Given the description of an element on the screen output the (x, y) to click on. 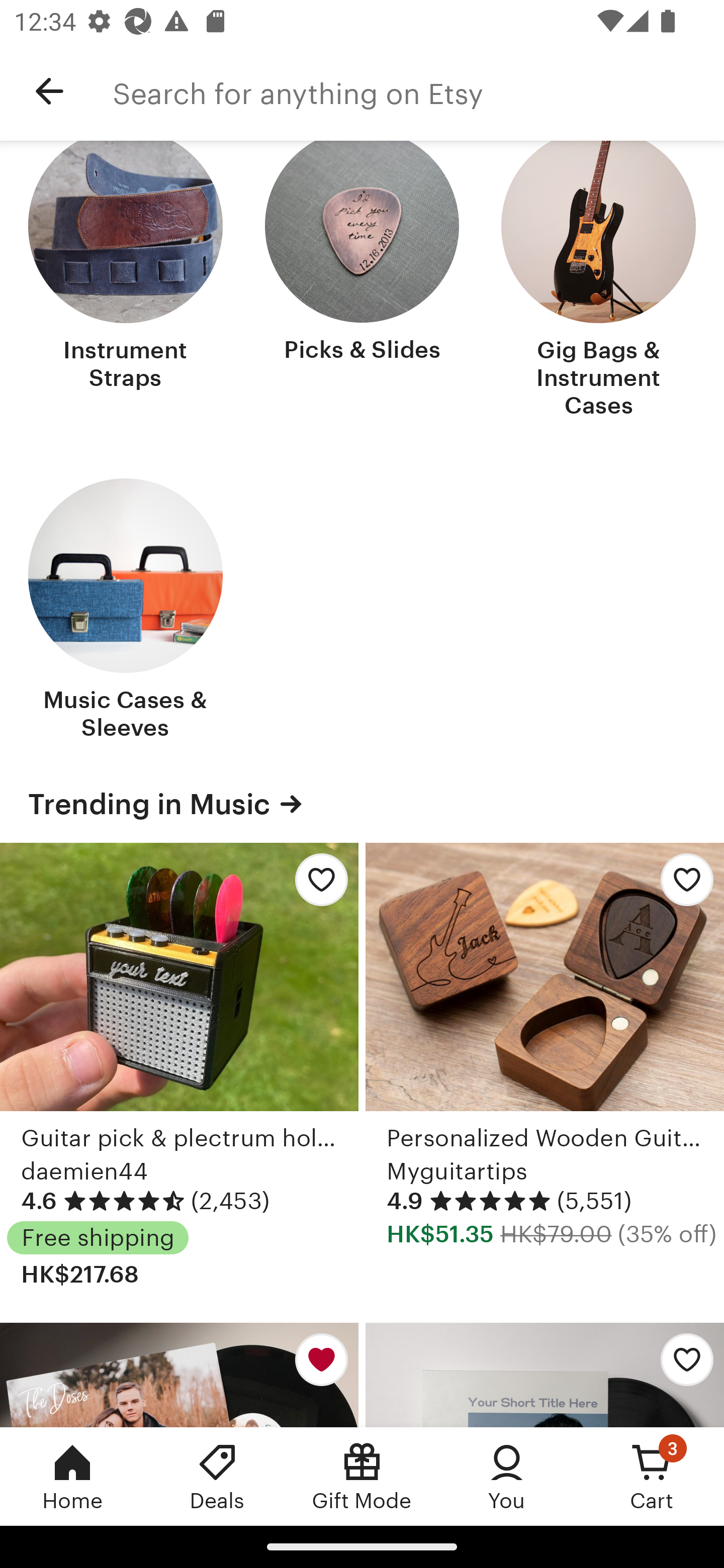
Navigate up (49, 91)
Search for anything on Etsy (418, 91)
Instrument Straps (125, 281)
Picks & Slides (361, 281)
Gig Bags & Instrument Cases (598, 281)
Music Cases & Sleeves (125, 611)
Trending in Music  (361, 804)
Deals (216, 1475)
Gift Mode (361, 1475)
You (506, 1475)
Cart, 3 new notifications Cart (651, 1475)
